Given the description of an element on the screen output the (x, y) to click on. 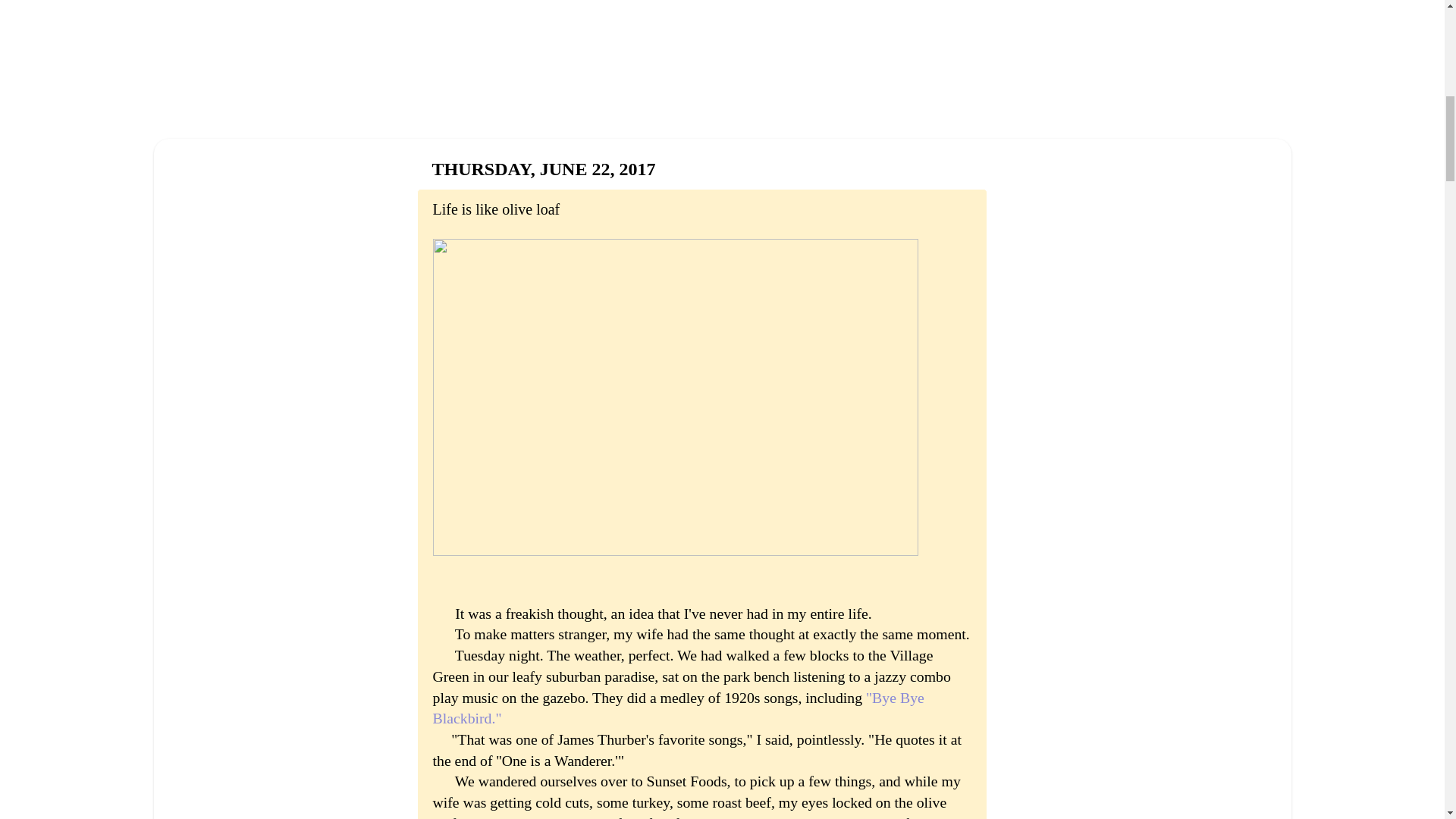
"Bye Bye Blackbird." (677, 708)
